Given the description of an element on the screen output the (x, y) to click on. 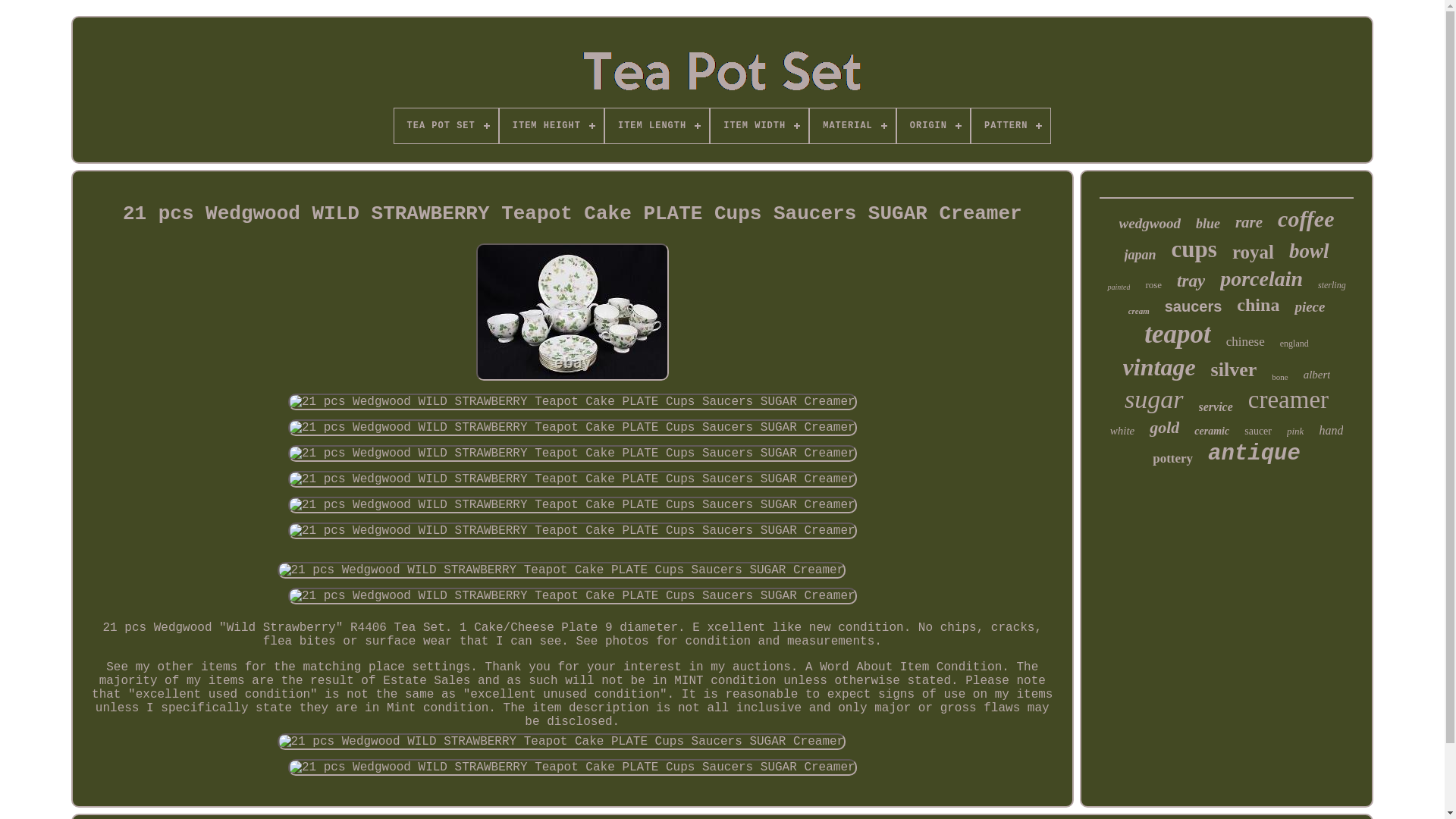
ITEM HEIGHT (551, 125)
TEA POT SET (445, 125)
